Given the description of an element on the screen output the (x, y) to click on. 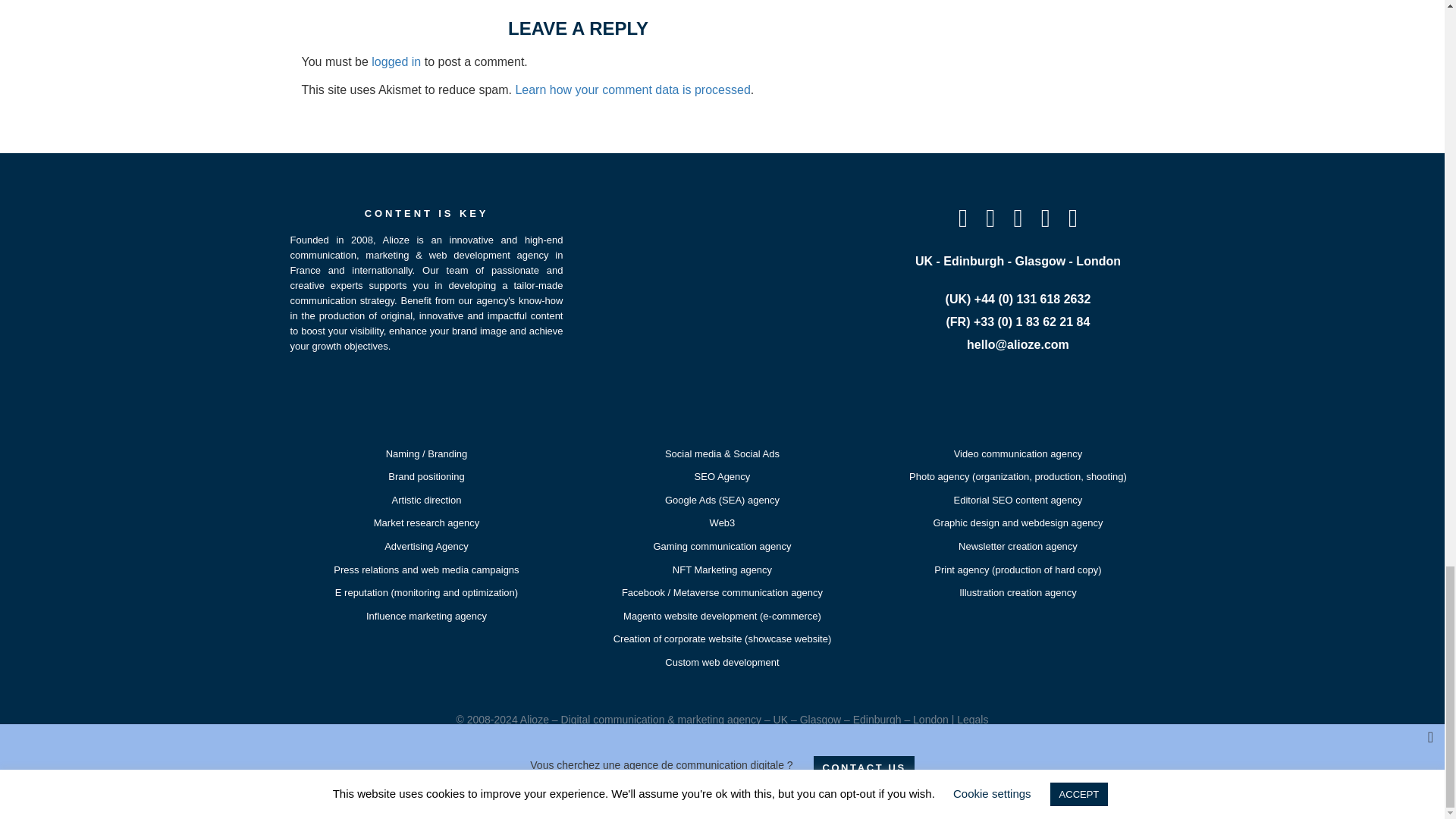
logged in (395, 61)
Learn how your comment data is processed (632, 89)
